Given the description of an element on the screen output the (x, y) to click on. 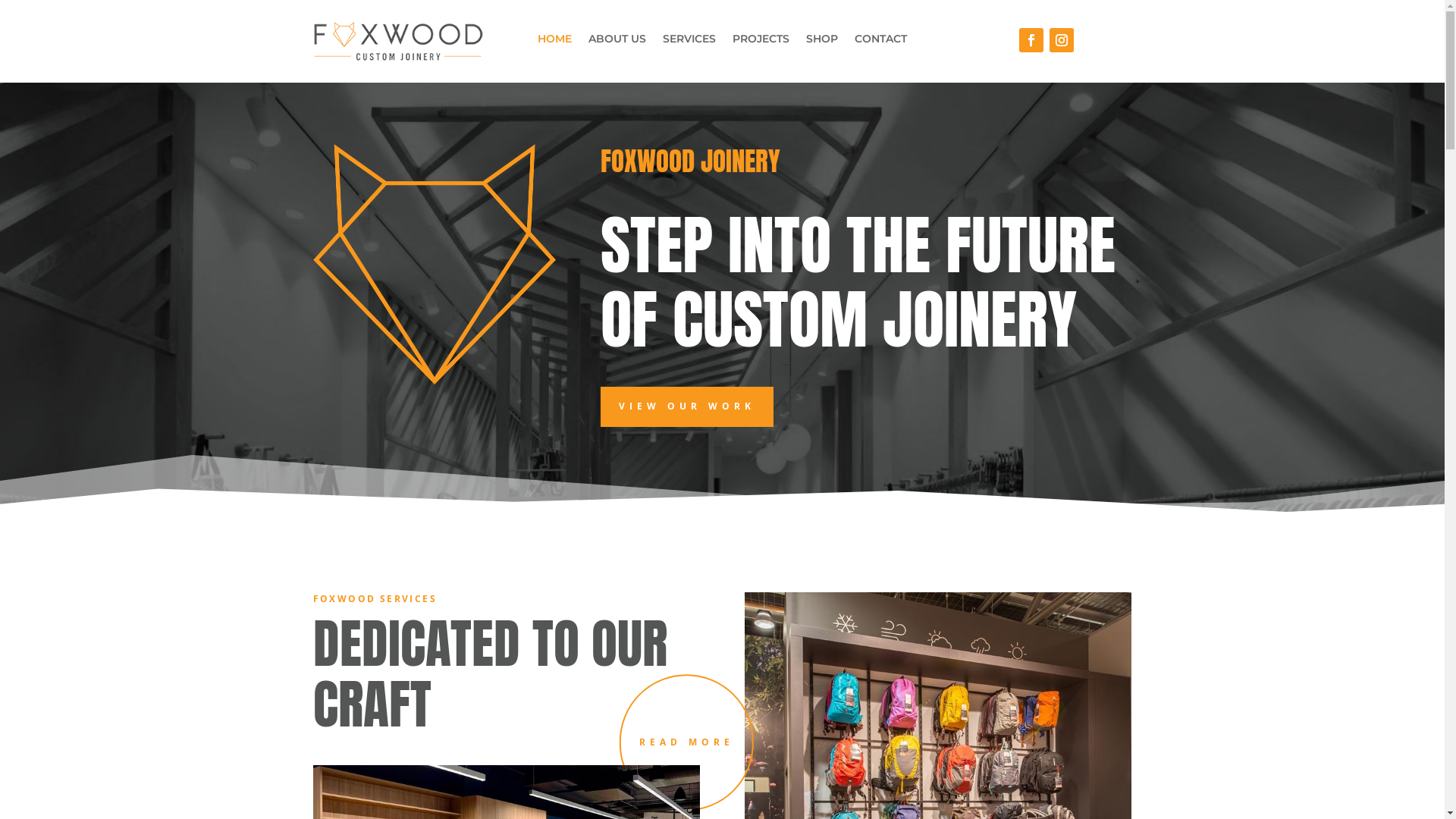
ABOUT US Element type: text (617, 41)
SERVICES Element type: text (688, 41)
Follow on Instagram Element type: hover (1061, 40)
PROJECTS Element type: text (760, 41)
logo_300x73-1 Element type: hover (397, 41)
Follow on Facebook Element type: hover (1031, 40)
READ MORE Element type: text (686, 742)
VIEW OUR WORK Element type: text (686, 406)
SHOP Element type: text (821, 41)
CONTACT Element type: text (880, 41)
Foxwood Logo Element type: hover (433, 264)
HOME Element type: text (554, 41)
